Given the description of an element on the screen output the (x, y) to click on. 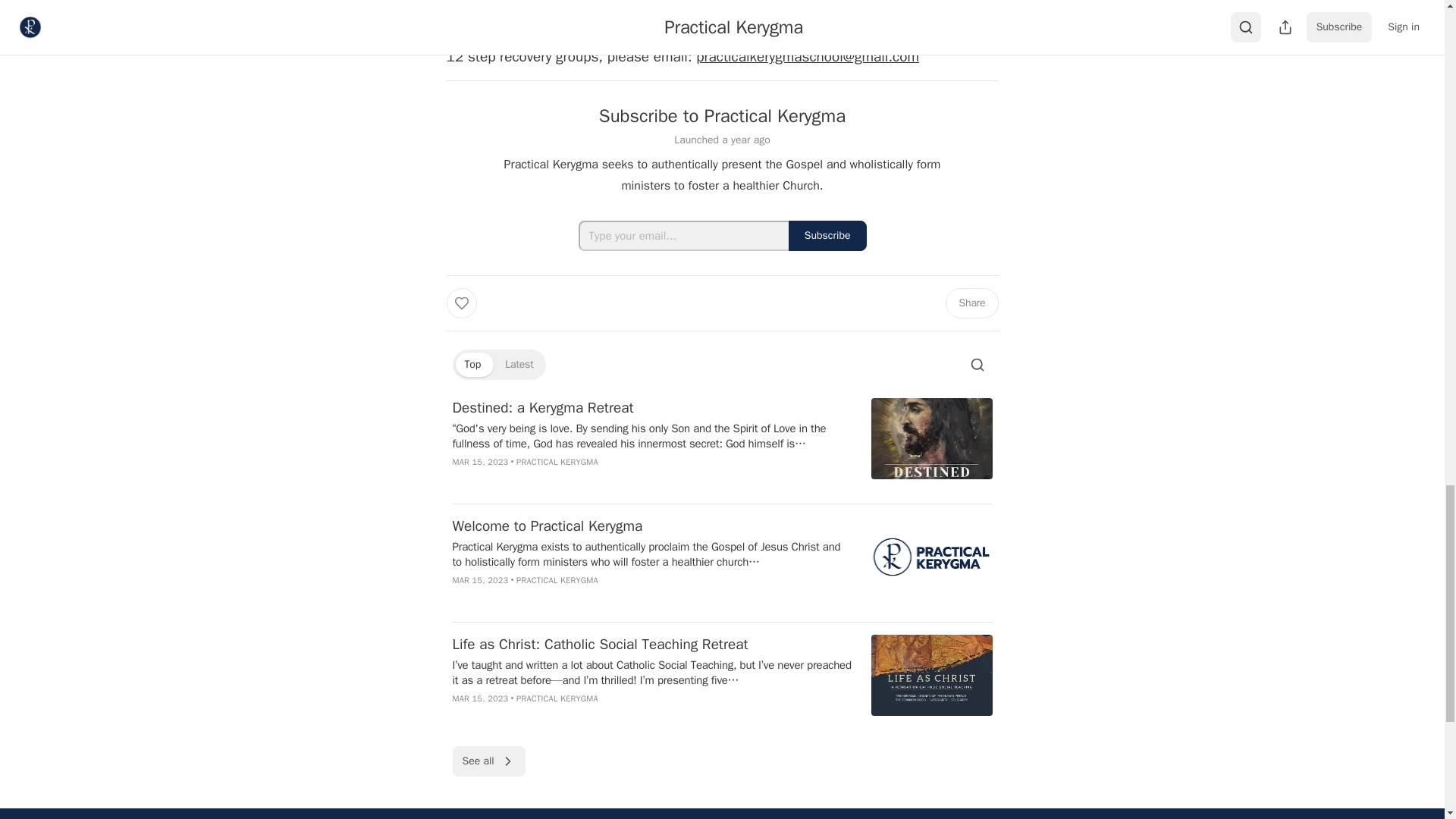
Share (970, 303)
here (862, 2)
Top (471, 364)
Latest (518, 364)
Destined: a Kerygma Retreat (651, 407)
Subscribe (827, 235)
